Given the description of an element on the screen output the (x, y) to click on. 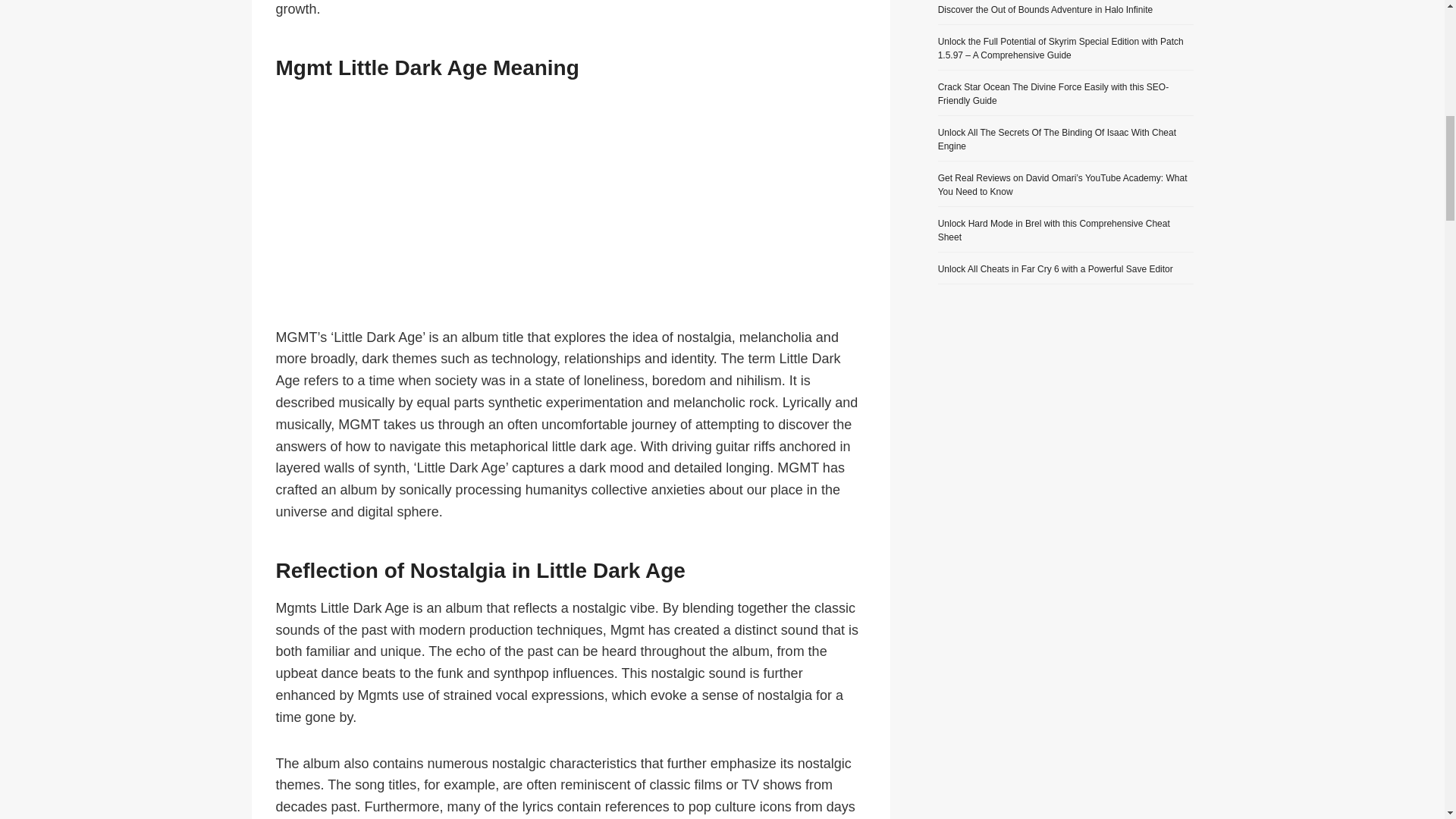
Unlock Hard Mode in Brel with this Comprehensive Cheat Sheet (1053, 230)
Discover the Out of Bounds Adventure in Halo Infinite (1045, 9)
Unlock All Cheats in Far Cry 6 with a Powerful Save Editor (1055, 268)
Advertisement (571, 214)
